Given the description of an element on the screen output the (x, y) to click on. 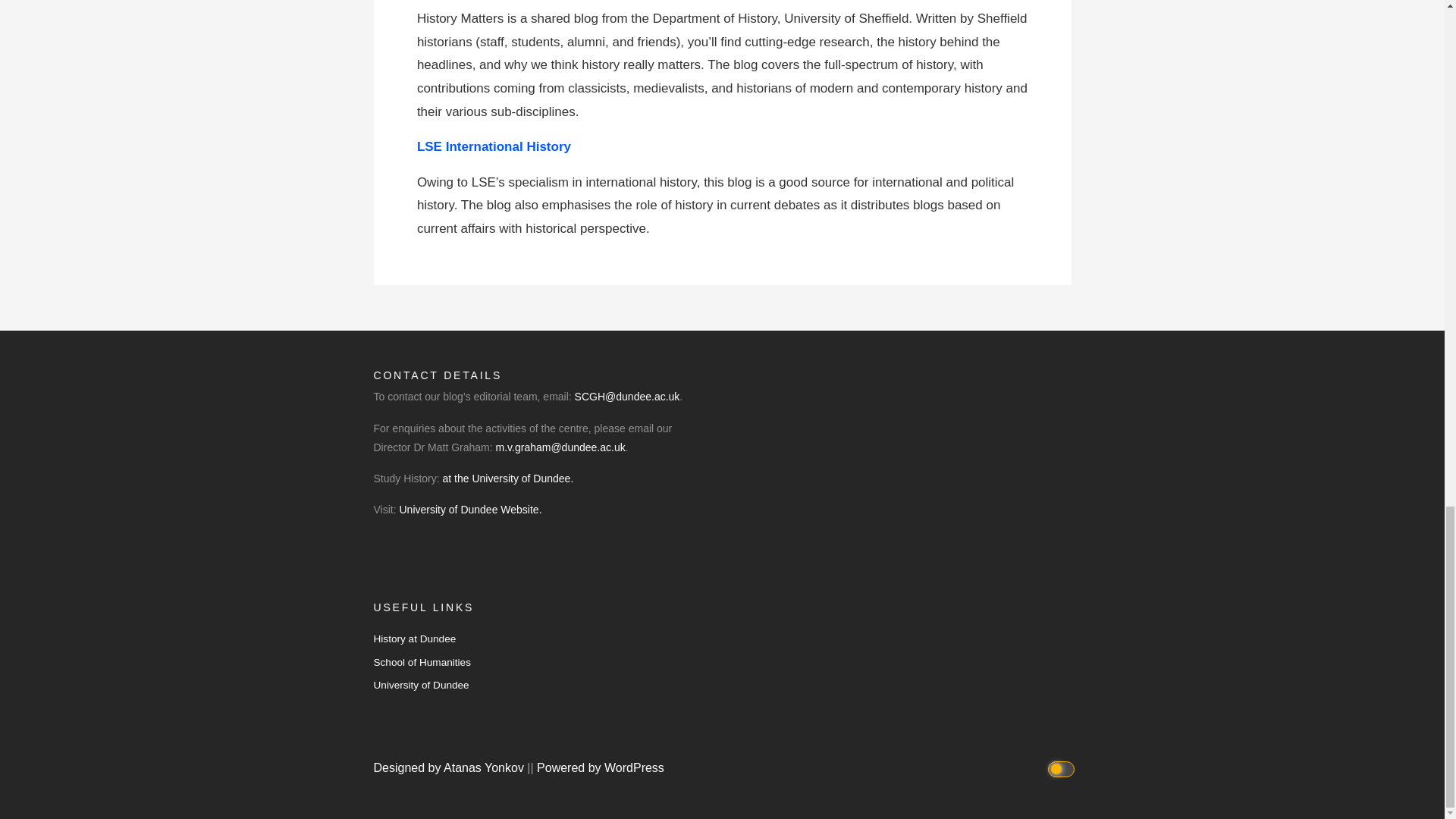
School of Humanities (421, 662)
University of Dundee Website. (469, 509)
University of Dundee (420, 685)
Powered by WordPress (600, 767)
History at Dundee (413, 638)
LSE International History  (495, 146)
Designed by Atanas Yonkov (449, 767)
at the University of Dundee. (507, 478)
